Given the description of an element on the screen output the (x, y) to click on. 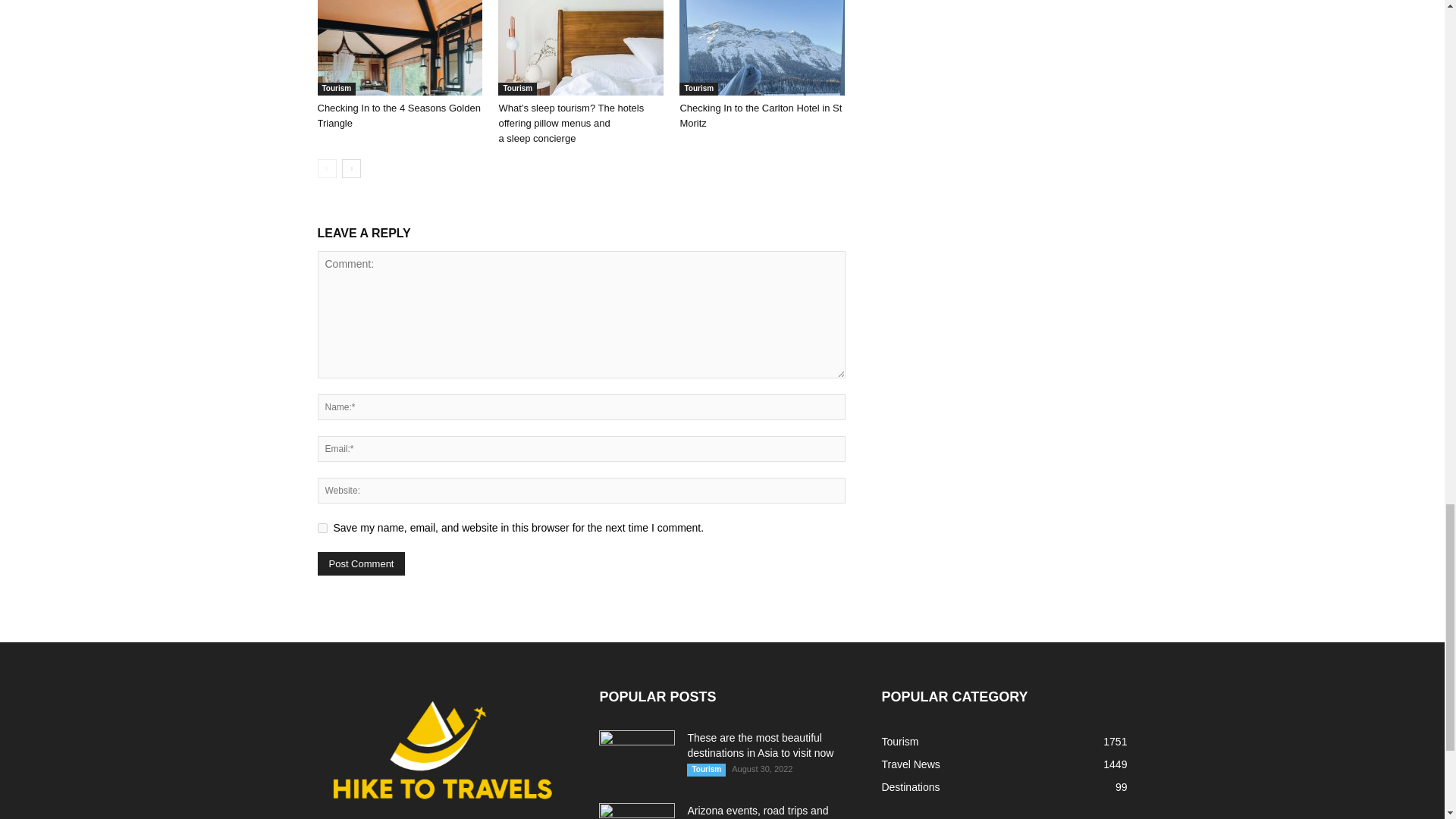
Post Comment (360, 563)
yes (321, 528)
